Given the description of an element on the screen output the (x, y) to click on. 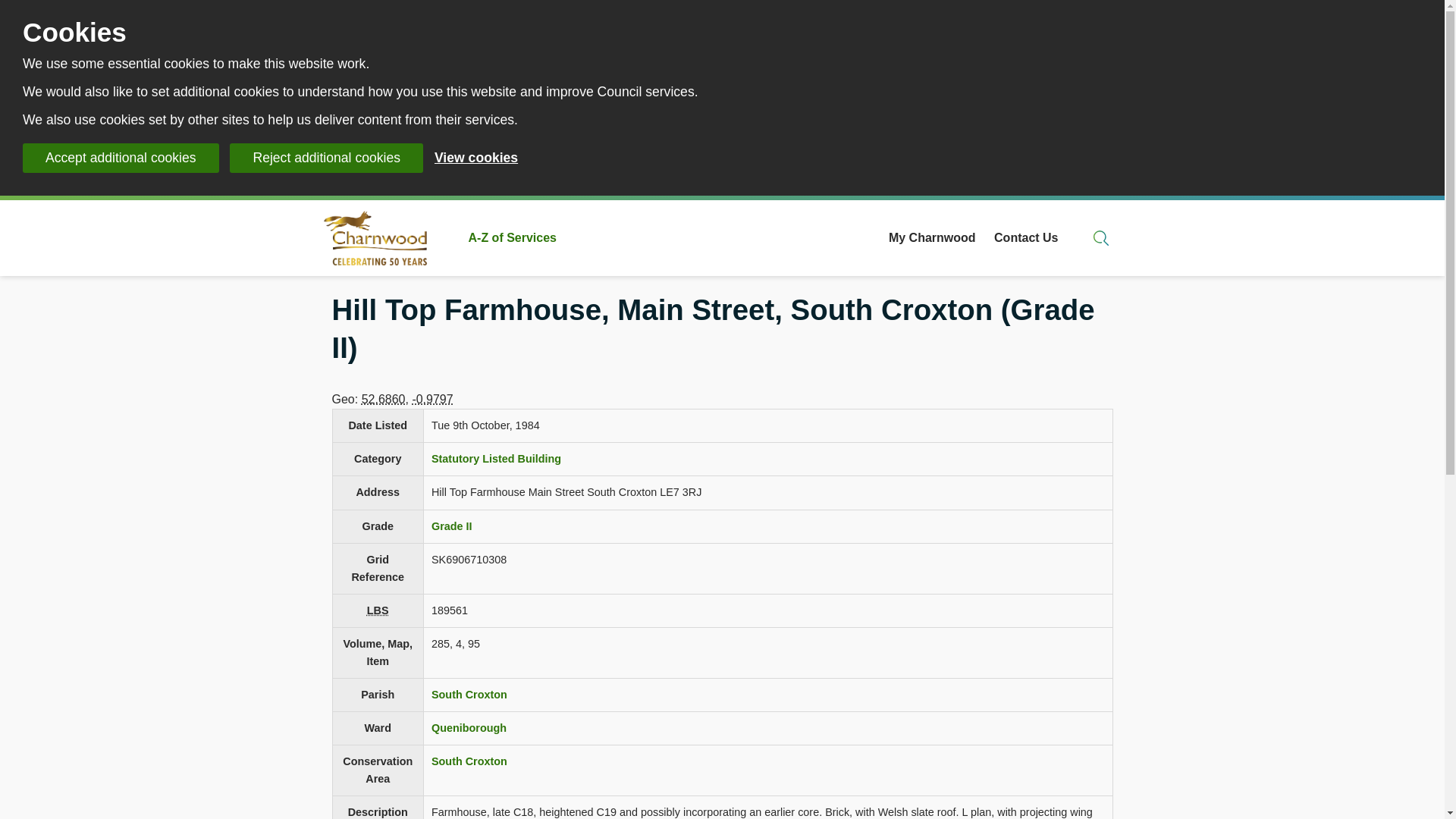
52.686048284786 (383, 399)
View cookies (475, 157)
Search (1101, 238)
A-Z of Services (512, 238)
Queniborough (468, 727)
My Charnwood (931, 238)
Accept additional cookies (121, 157)
Search (1101, 238)
Reject additional cookies (326, 157)
South Croxton (468, 761)
